Given the description of an element on the screen output the (x, y) to click on. 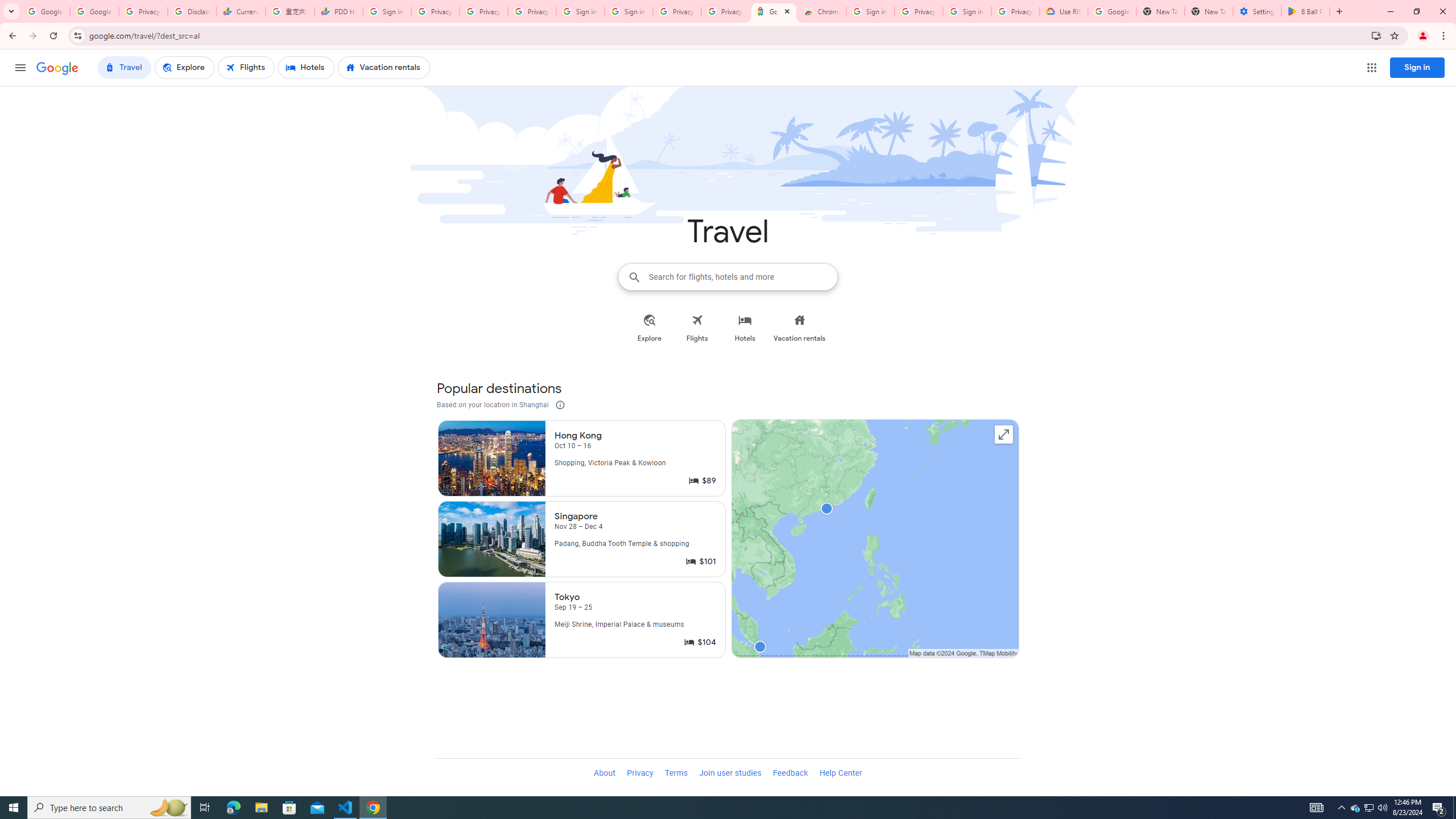
Sign in - Google Accounts (387, 11)
Vacation rentals (798, 328)
About Google Travel (604, 773)
Privacy Checkup (532, 11)
Google Workspace Admin Community (45, 11)
More information on trips from Shanghai. (560, 404)
Explore destinations (1003, 434)
